Given the description of an element on the screen output the (x, y) to click on. 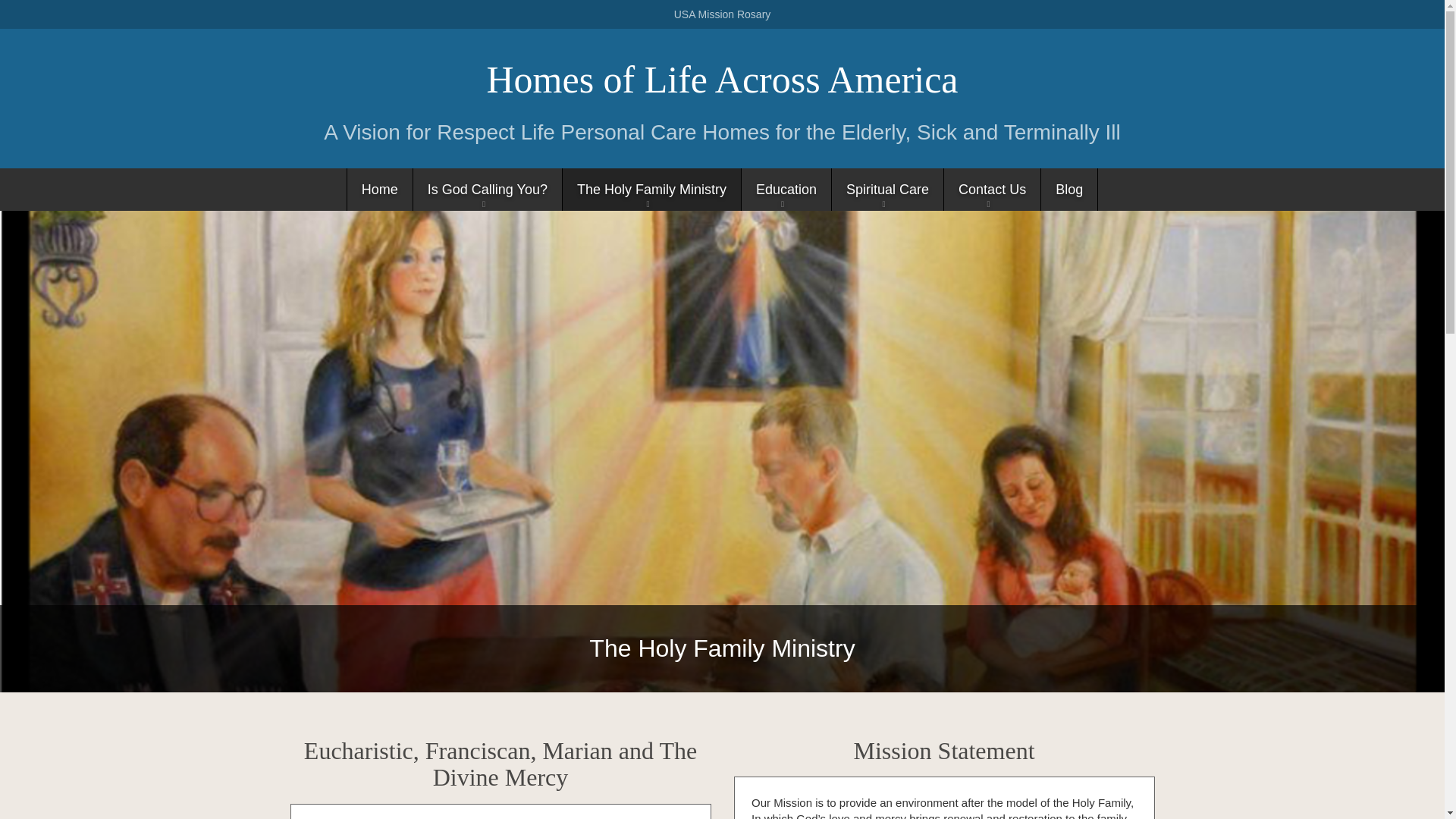
Homes of Life Across America (722, 79)
Is God Calling You? (487, 189)
Education (786, 189)
USA Mission Rosary (722, 14)
Spiritual Care (887, 189)
The Holy Family Ministry (651, 189)
Home (379, 189)
Blog (1069, 189)
Contact Us (992, 189)
